Given the description of an element on the screen output the (x, y) to click on. 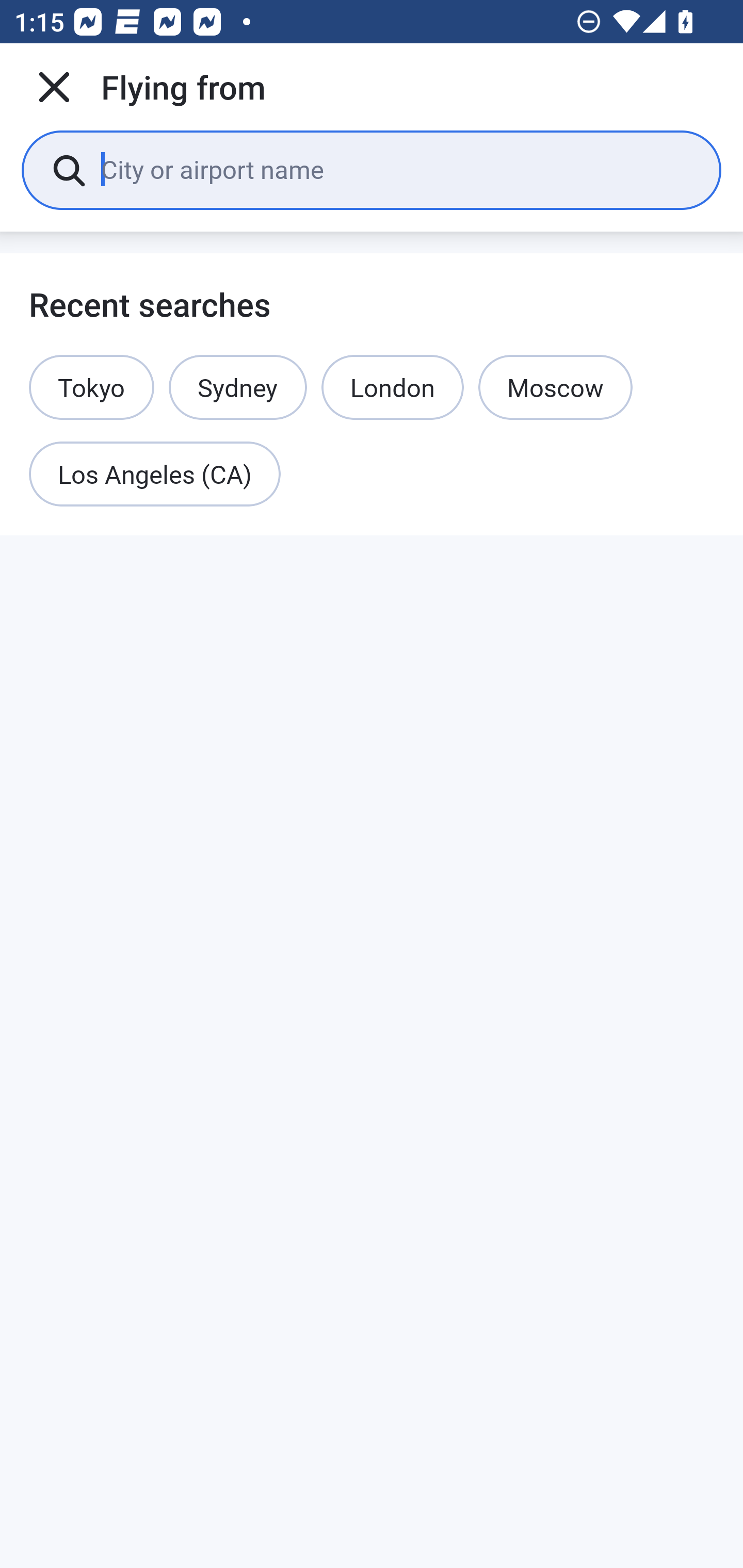
City or airport name (396, 169)
Tokyo (91, 387)
Sydney (237, 387)
London (392, 387)
Moscow (555, 387)
Los Angeles (CA) (154, 474)
